Given the description of an element on the screen output the (x, y) to click on. 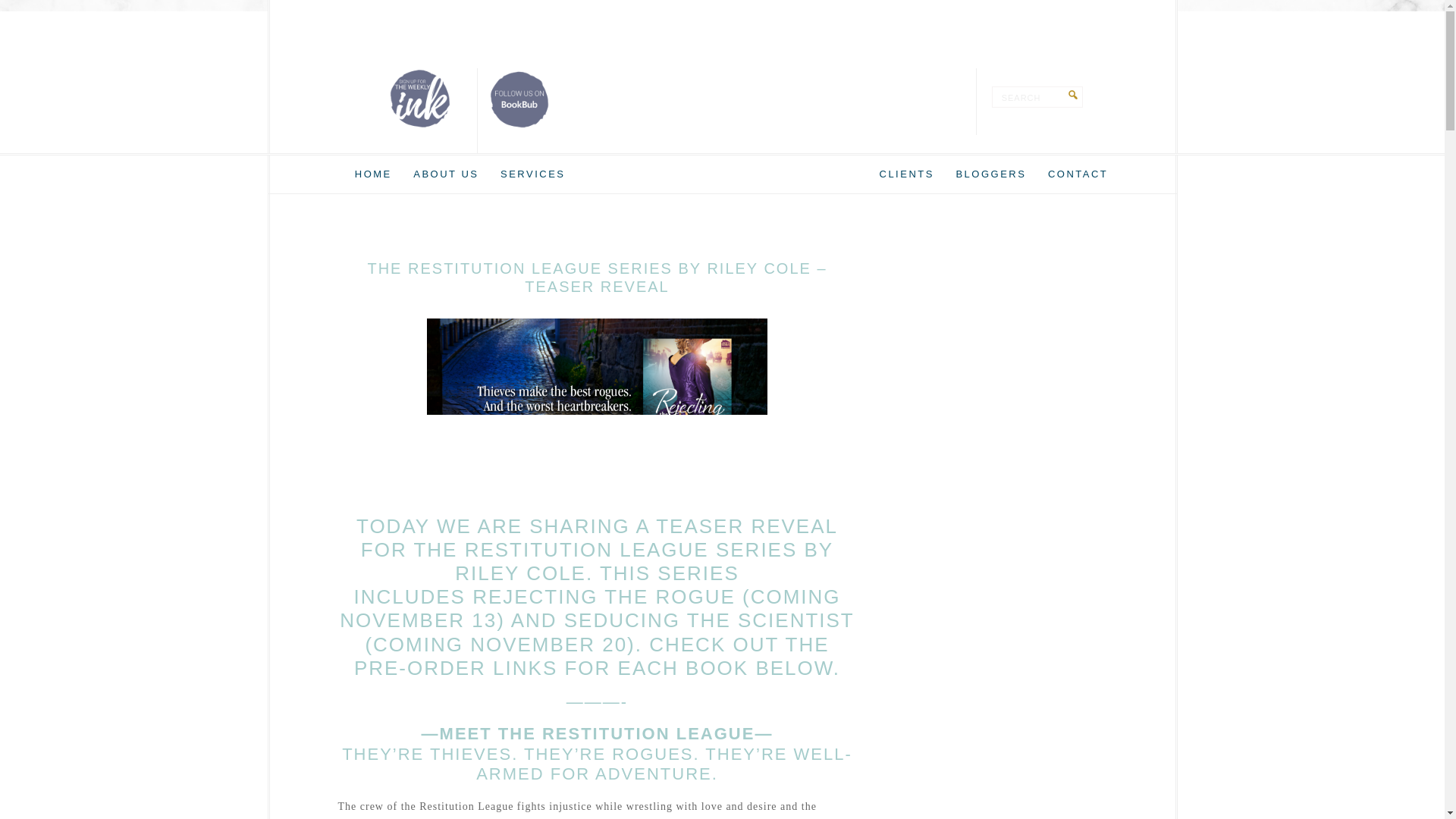
CLIENTS (906, 174)
INKSLINGER PR (722, 91)
BLOGGERS (990, 174)
CONTACT (1077, 174)
SERVICES (533, 174)
ABOUT US (445, 174)
HOME (373, 174)
